Given the description of an element on the screen output the (x, y) to click on. 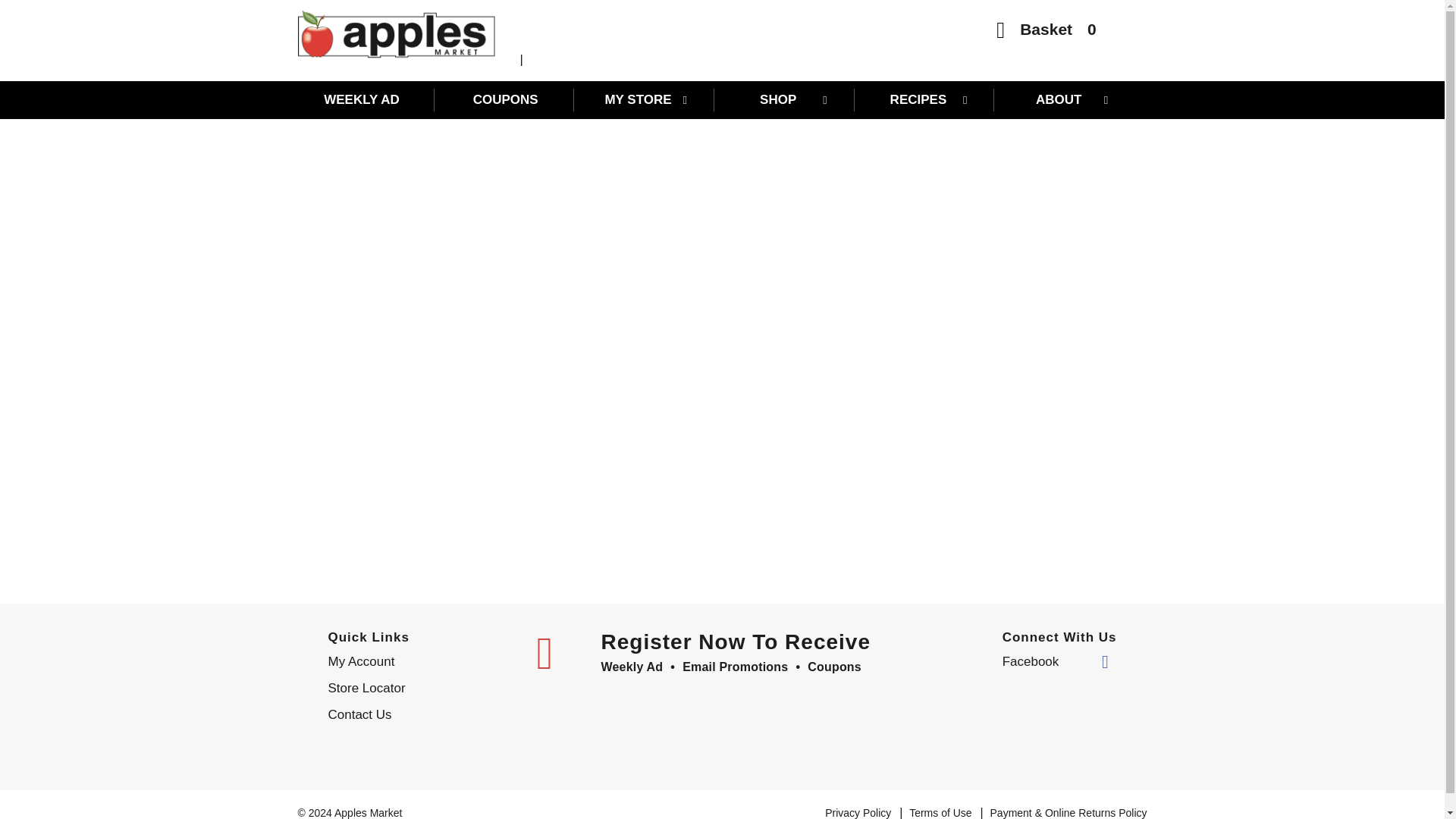
Store Locator (420, 688)
facebook (1055, 661)
MY STORE (646, 99)
RECIPES (925, 99)
COUPONS (505, 99)
My Account (420, 661)
Contact Us (420, 714)
SHOP (785, 99)
ABOUT (1065, 99)
Basket0 (1045, 33)
Facebook (1055, 661)
WEEKLY AD (365, 99)
